Given the description of an element on the screen output the (x, y) to click on. 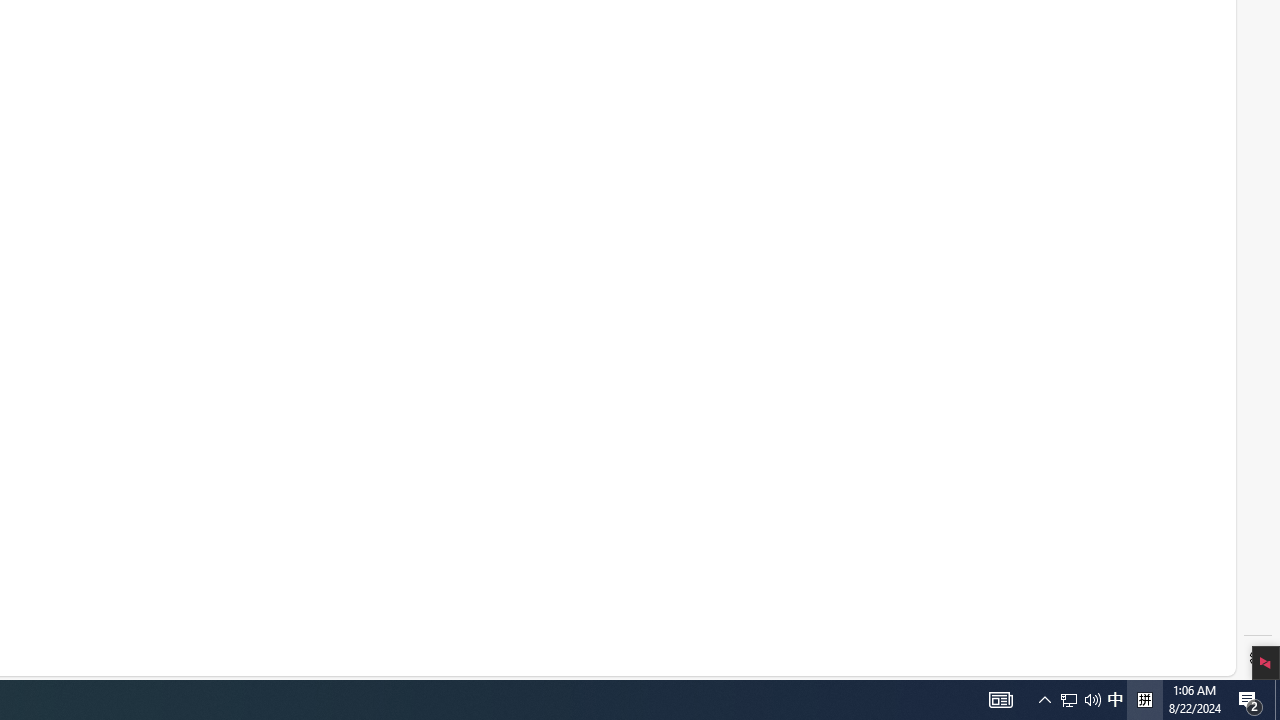
Settings (1258, 658)
